Given the description of an element on the screen output the (x, y) to click on. 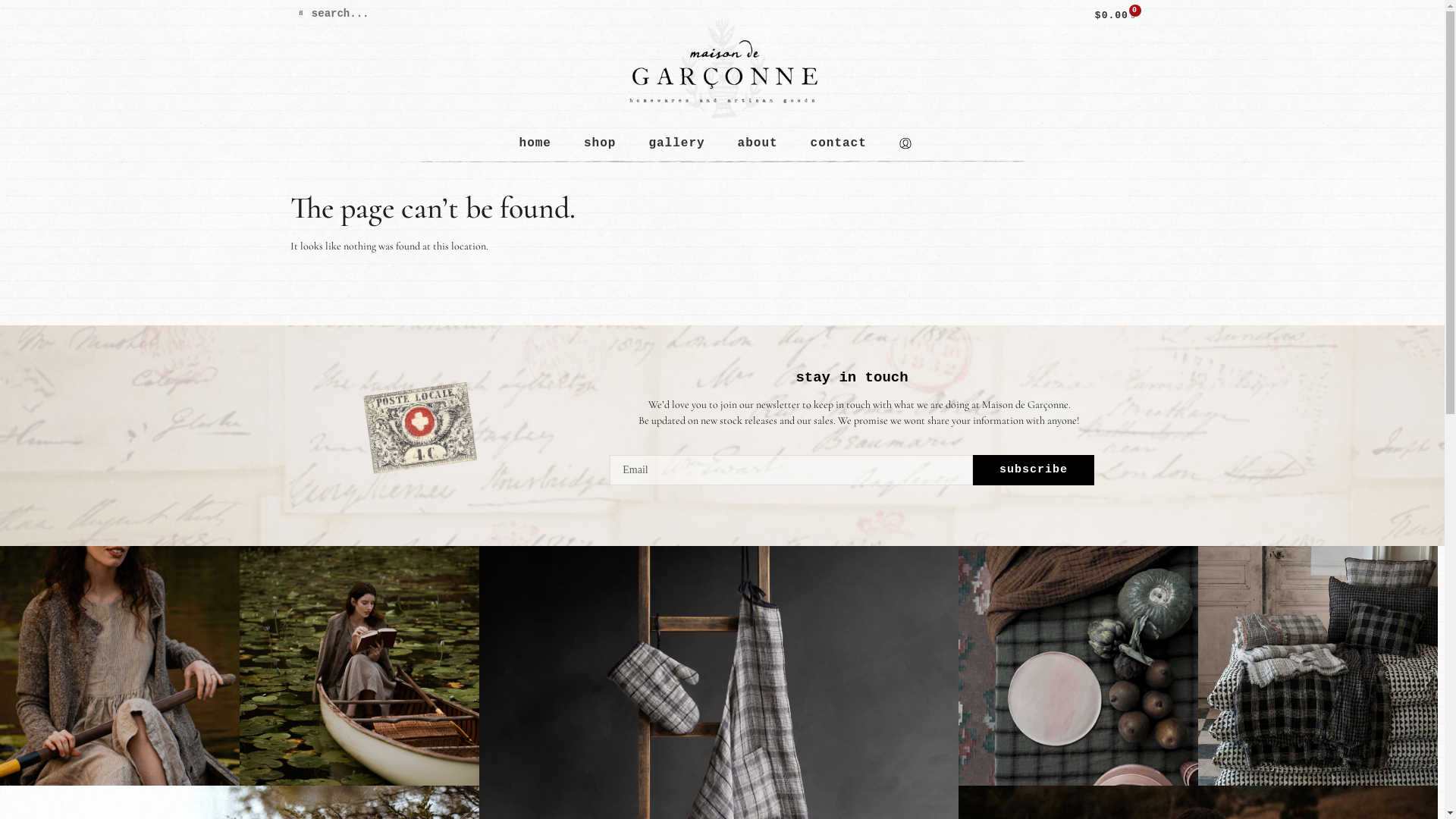
shop Element type: text (599, 143)
contact Element type: text (838, 143)
subscribe Element type: text (1033, 470)
1 Element type: text (912, 143)
$0.00
0 Element type: text (1115, 15)
home Element type: text (535, 143)
about Element type: text (757, 143)
gallery Element type: text (676, 143)
